Given the description of an element on the screen output the (x, y) to click on. 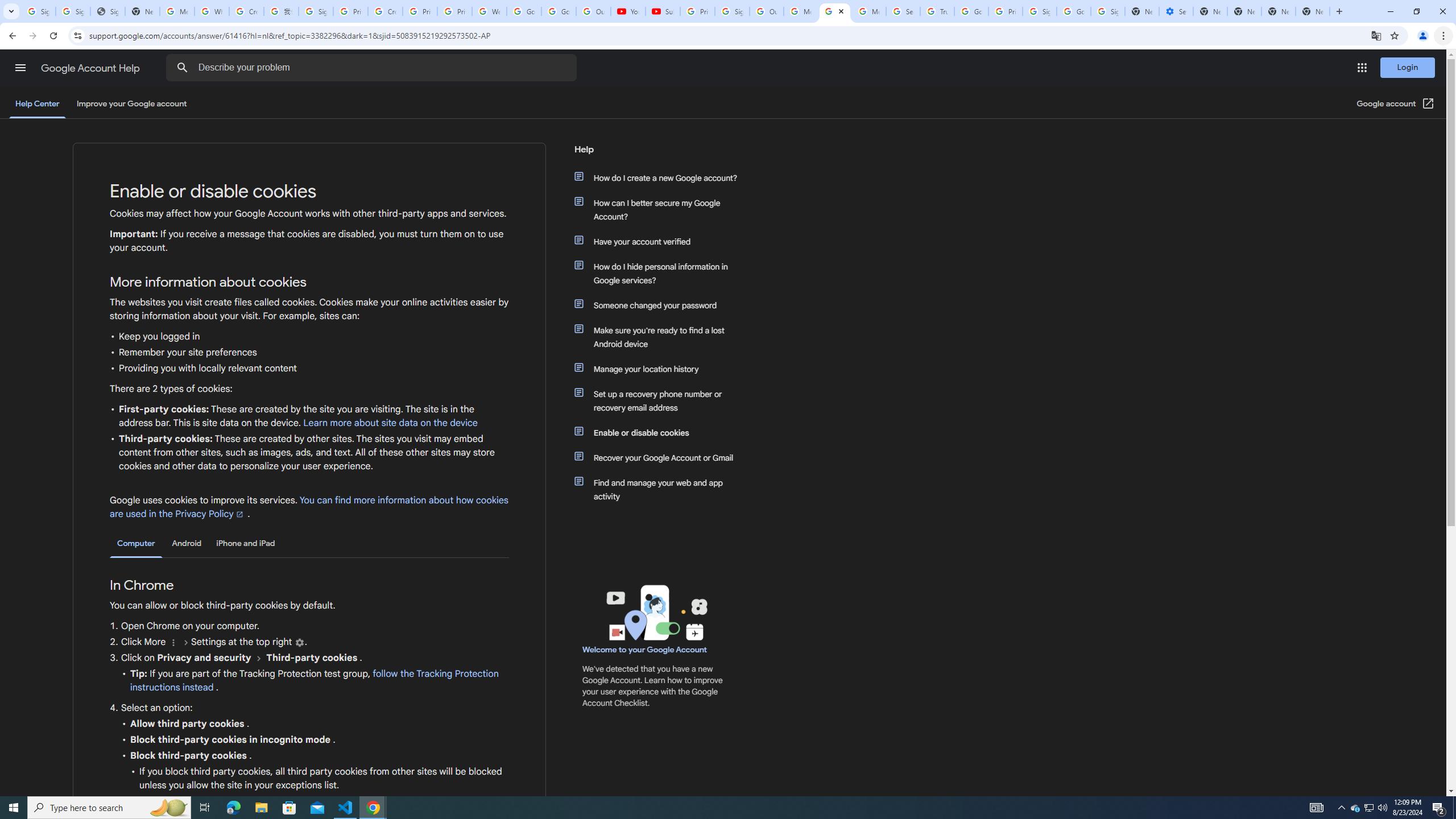
New Tab (1312, 11)
Sign in - Google Accounts (1107, 11)
iPhone and iPad (245, 542)
Create your Google Account (384, 11)
Main menu (20, 67)
Set up a recovery phone number or recovery email address (661, 400)
Google Account (557, 11)
Sign in - Google Accounts (315, 11)
Sign in - Google Accounts (1039, 11)
Recover your Google Account or Gmail (661, 457)
Learning Center home page image (655, 612)
Subscriptions - YouTube (662, 11)
